Given the description of an element on the screen output the (x, y) to click on. 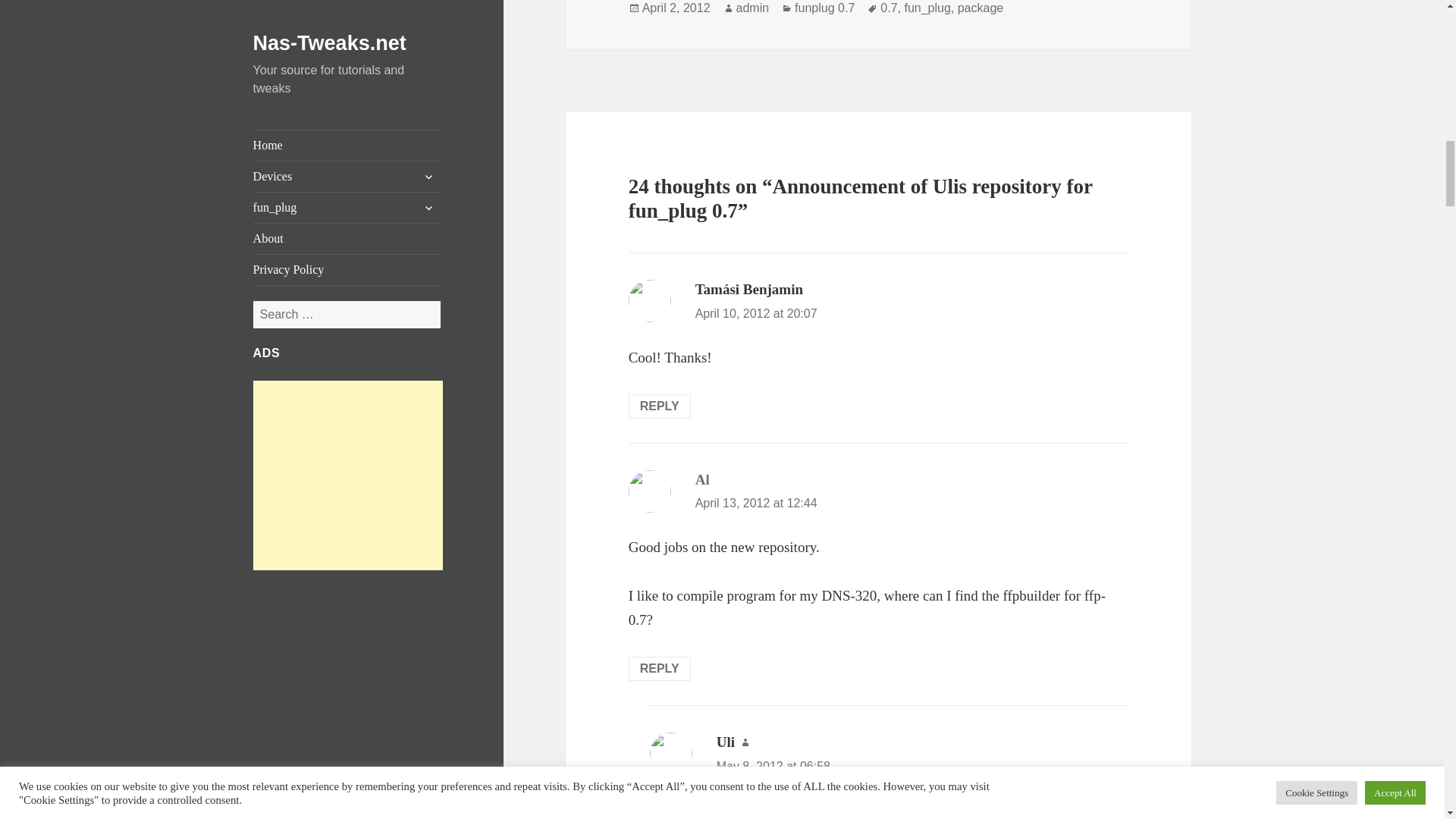
package (981, 8)
April 10, 2012 at 20:07 (755, 313)
admin (753, 8)
REPLY (659, 405)
REPLY (659, 668)
funplug 0.7 (824, 8)
0.7 (888, 8)
April 13, 2012 at 12:44 (755, 502)
Uli (725, 741)
May 8, 2012 at 06:58 (772, 766)
April 2, 2012 (676, 8)
